Given the description of an element on the screen output the (x, y) to click on. 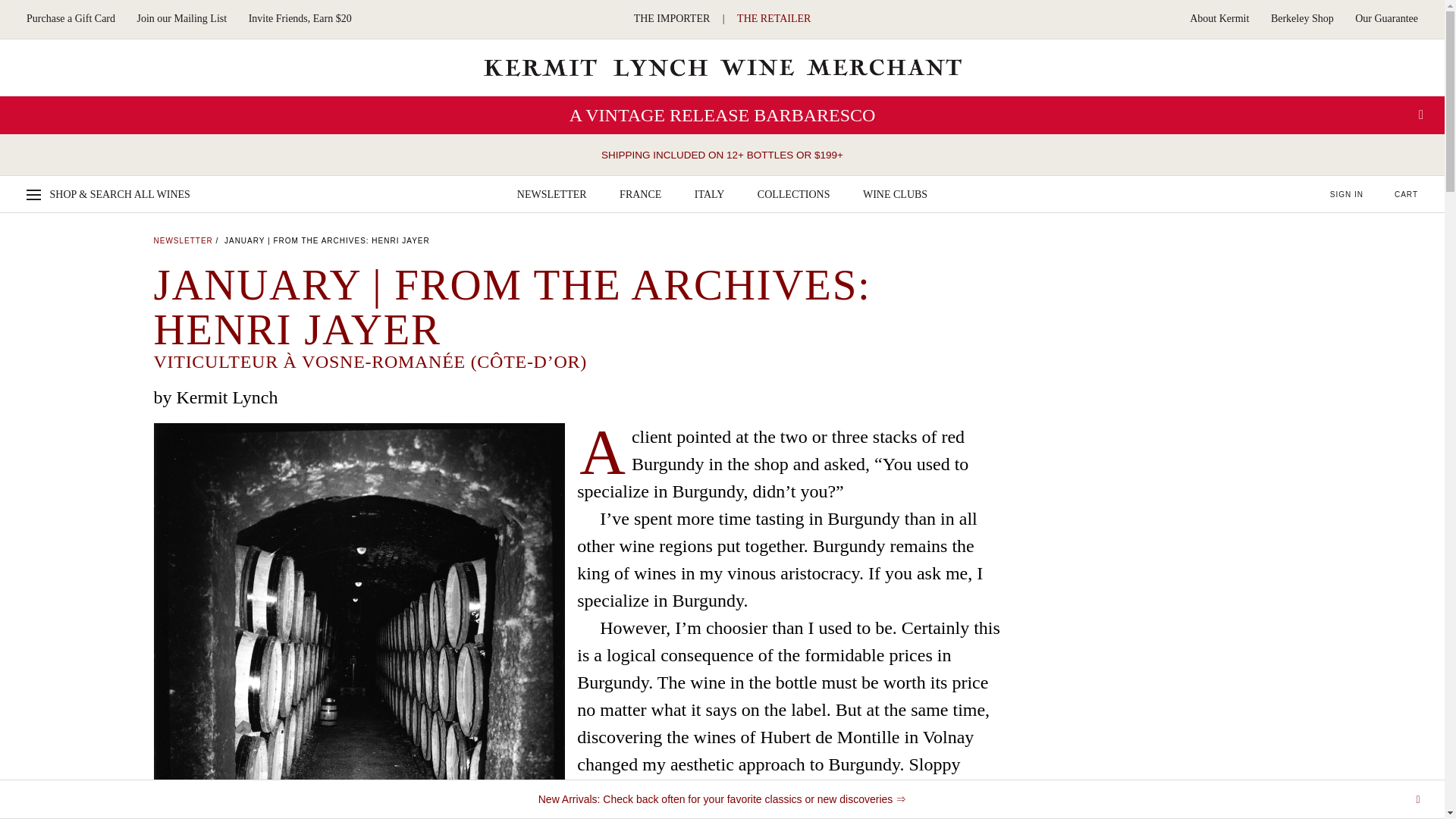
Berkeley Shop (1302, 19)
Purchase a Gift Card (70, 19)
FRANCE (640, 194)
Our Guarantee (1386, 19)
WINE CLUBS (895, 194)
COLLECTIONS (793, 194)
About Kermit (1219, 19)
NEWSLETTER (551, 194)
THE RETAILER (773, 19)
Kermit Lynch Wine Merchant (721, 67)
